Given the description of an element on the screen output the (x, y) to click on. 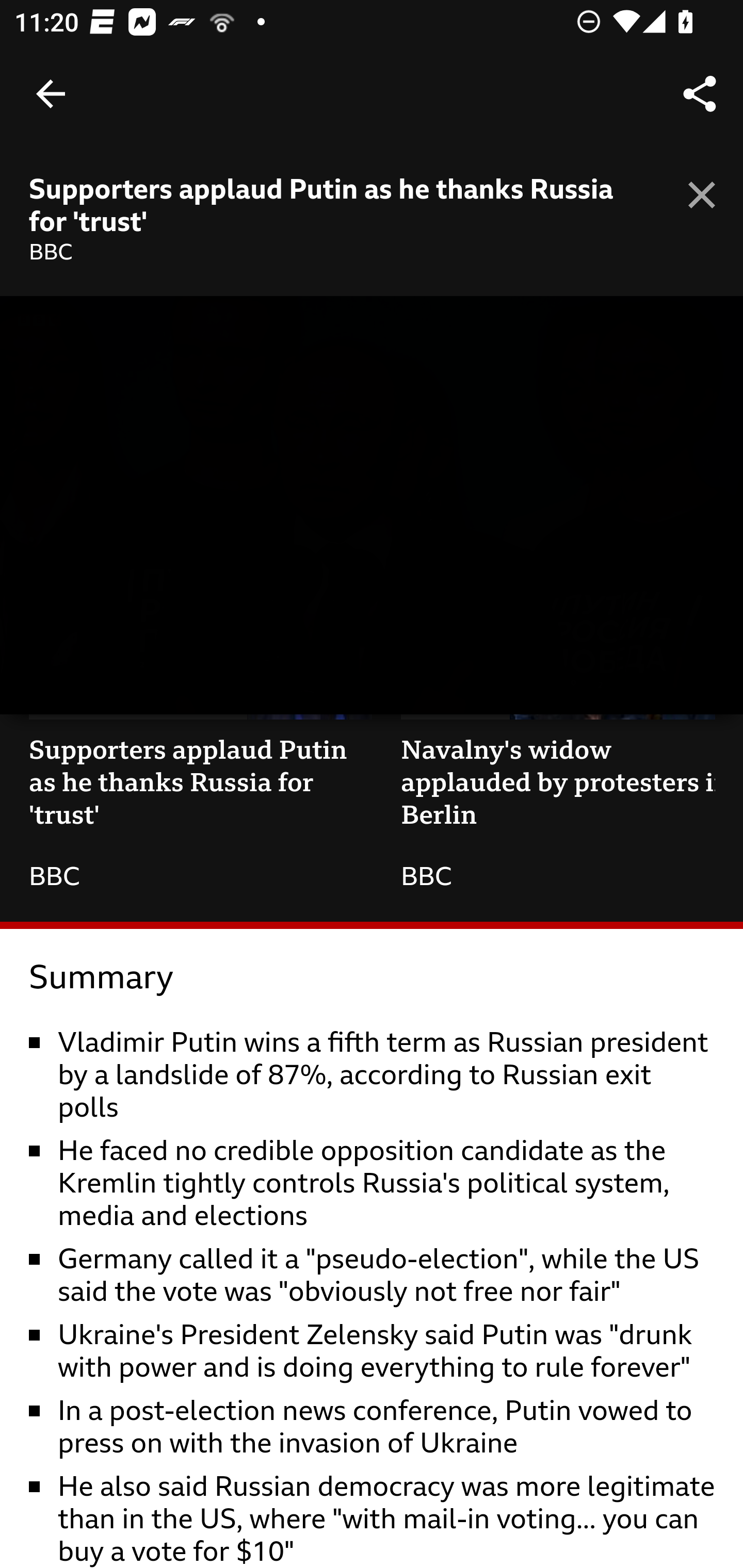
Back (50, 93)
Share (699, 93)
